Given the description of an element on the screen output the (x, y) to click on. 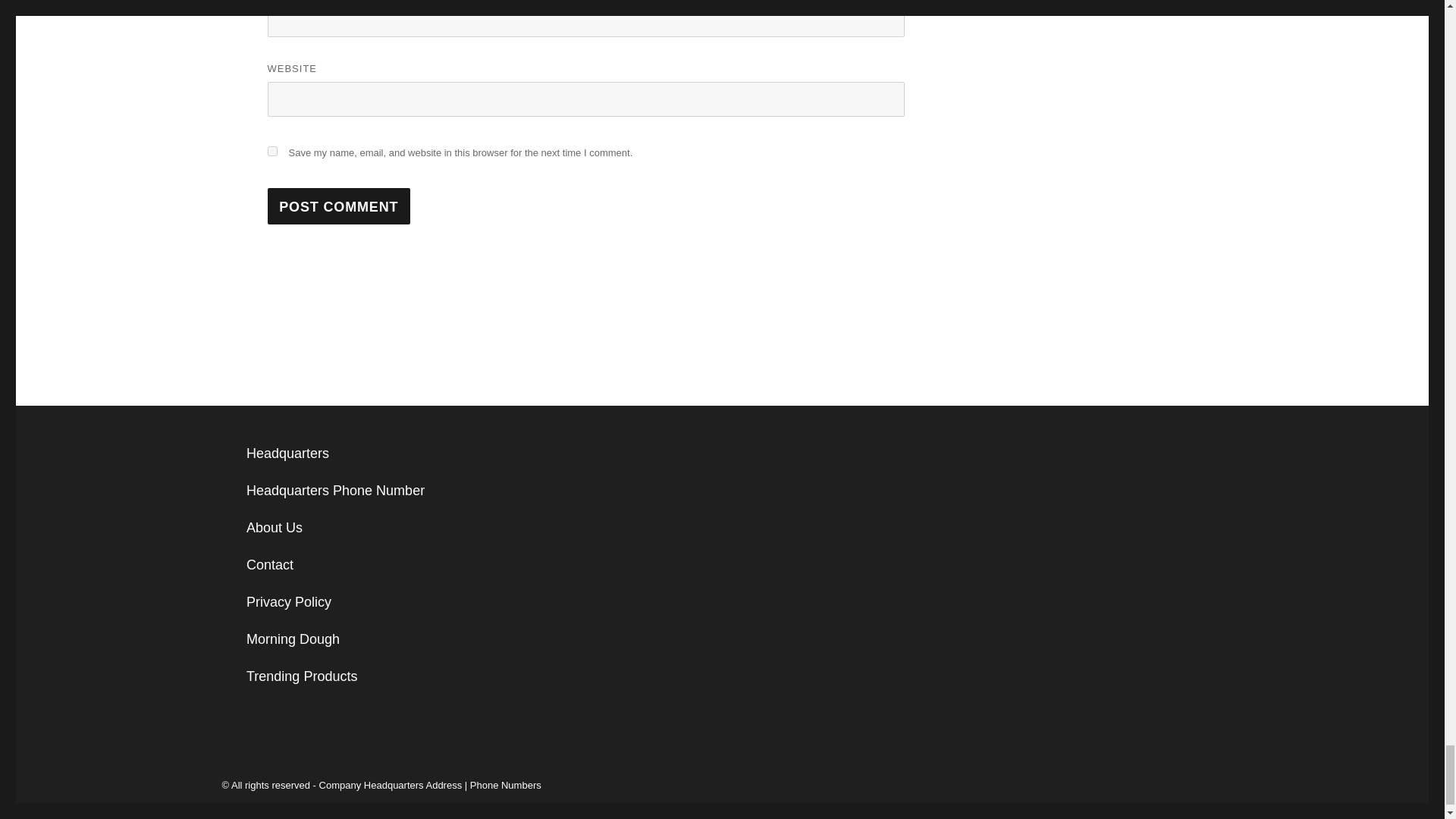
yes (271, 151)
Post Comment (338, 205)
Post Comment (338, 205)
